Given the description of an element on the screen output the (x, y) to click on. 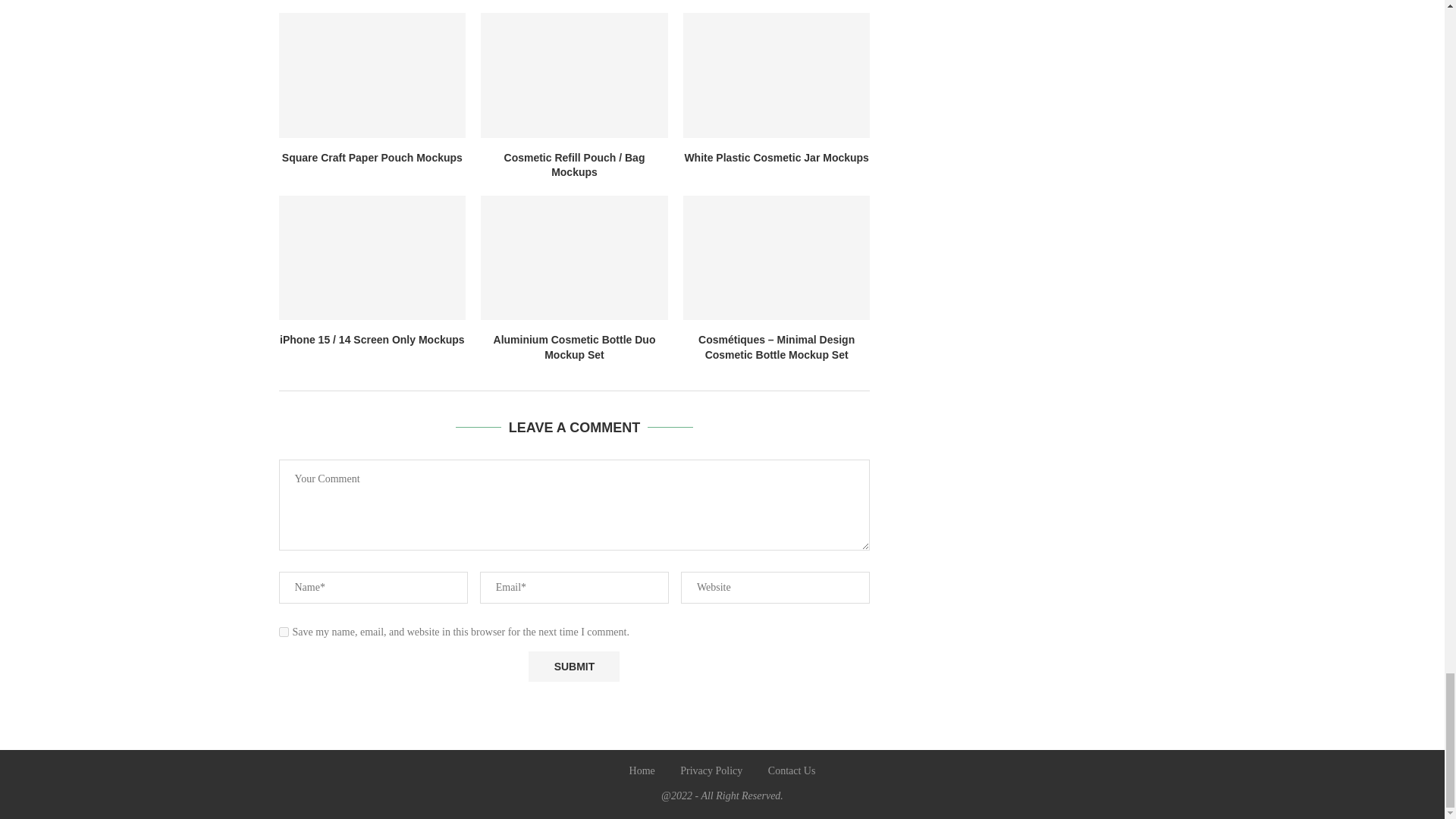
Aluminium Cosmetic Bottle Duo Mockup Set (574, 257)
Submit (574, 666)
yes (283, 632)
White Plastic Cosmetic Jar Mockups (776, 75)
Square Craft Paper Pouch Mockups (372, 75)
